Given the description of an element on the screen output the (x, y) to click on. 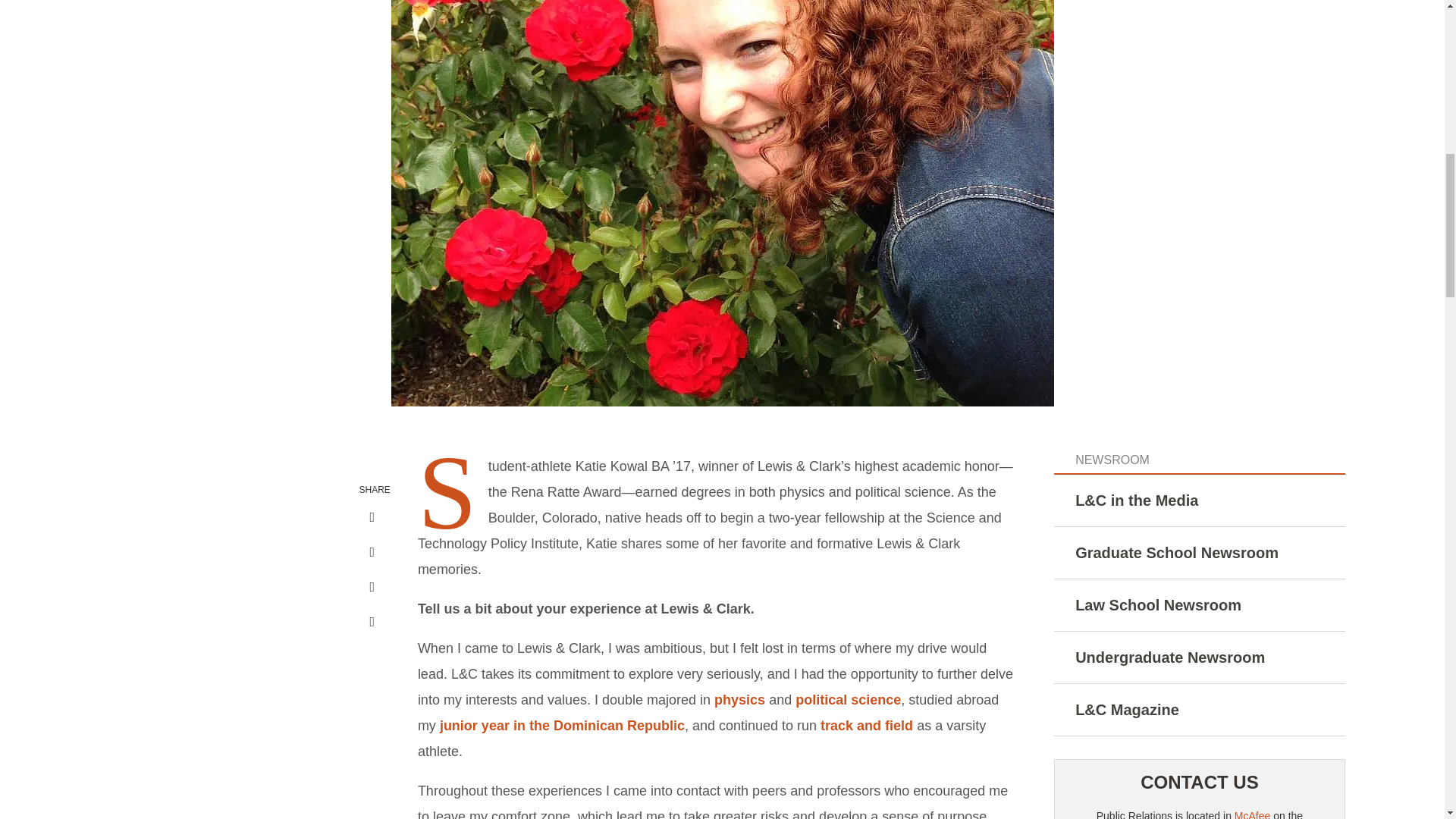
Share on Twitter (371, 586)
track and field (866, 725)
physics (739, 699)
junior year in the Dominican Republic (561, 725)
Share on Facebook (371, 516)
Share via email (371, 621)
political science (847, 699)
